Given the description of an element on the screen output the (x, y) to click on. 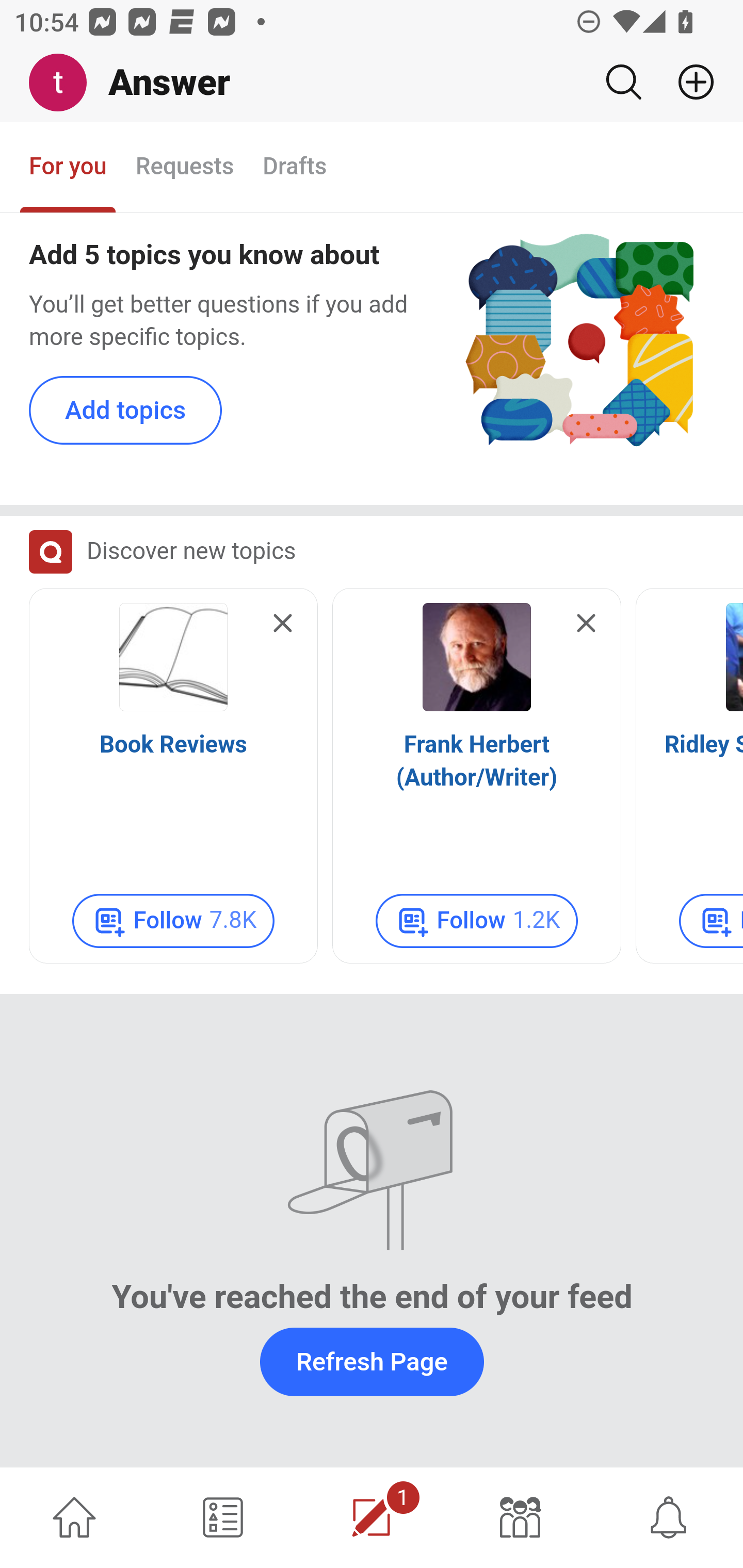
Me (64, 83)
Search (623, 82)
Add (688, 82)
For you (68, 167)
Requests (183, 167)
Drafts (295, 167)
Add topics (125, 411)
Hide this card (282, 624)
Hide this card (585, 624)
Icon for Book Reviews (173, 658)
Icon for Frank Herbert (Author/Writer) (476, 658)
Book Reviews (172, 746)
Frank Herbert (Author/Writer) (476, 762)
Follow 7.8K (172, 921)
Follow 1.2K (476, 921)
Refresh Page (371, 1362)
